Given the description of an element on the screen output the (x, y) to click on. 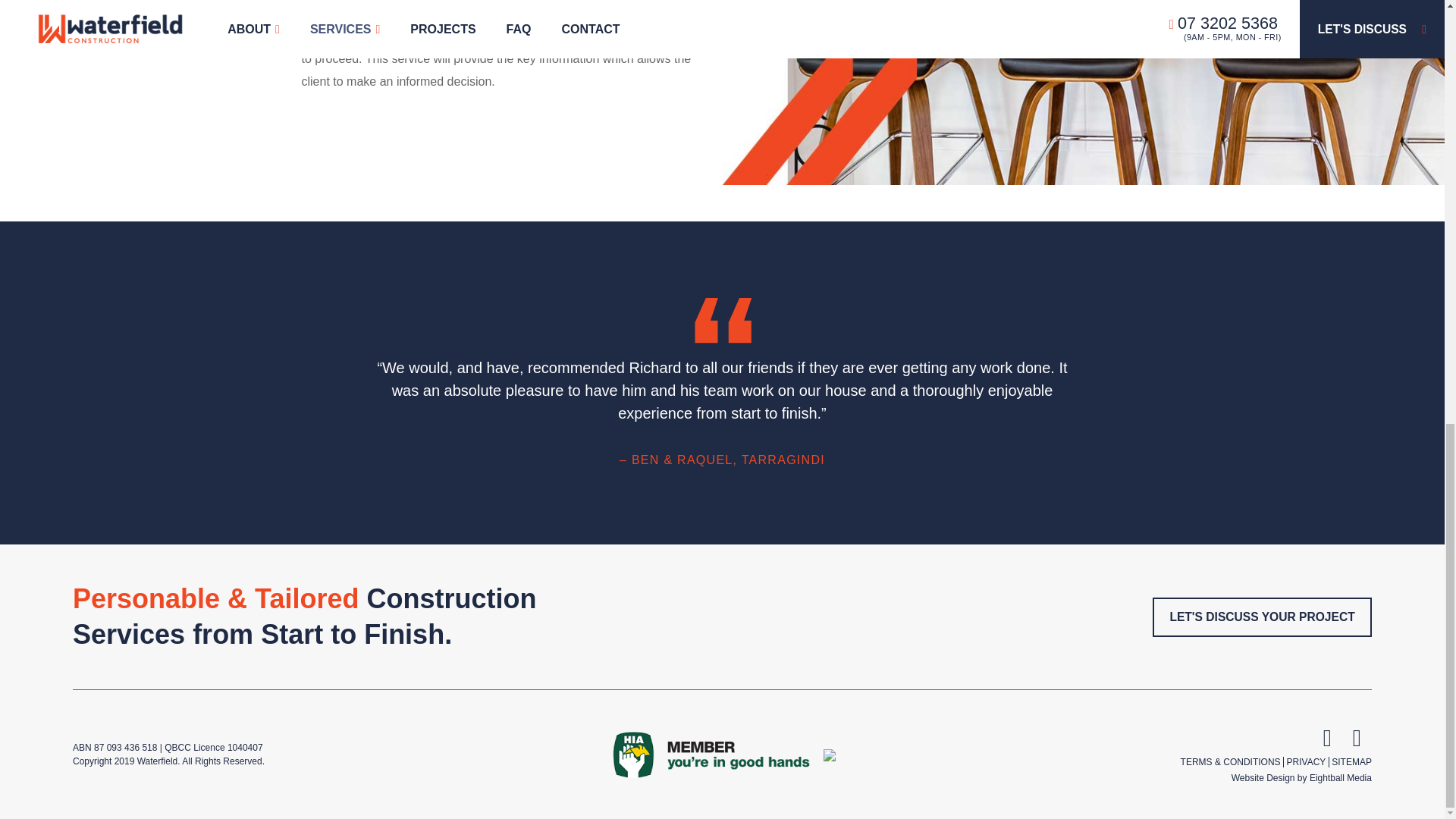
Eightball Media (1339, 777)
LET'S DISCUSS YOUR PROJECT (1262, 617)
PRIVACY (1308, 761)
SITEMAP (1351, 761)
